Given the description of an element on the screen output the (x, y) to click on. 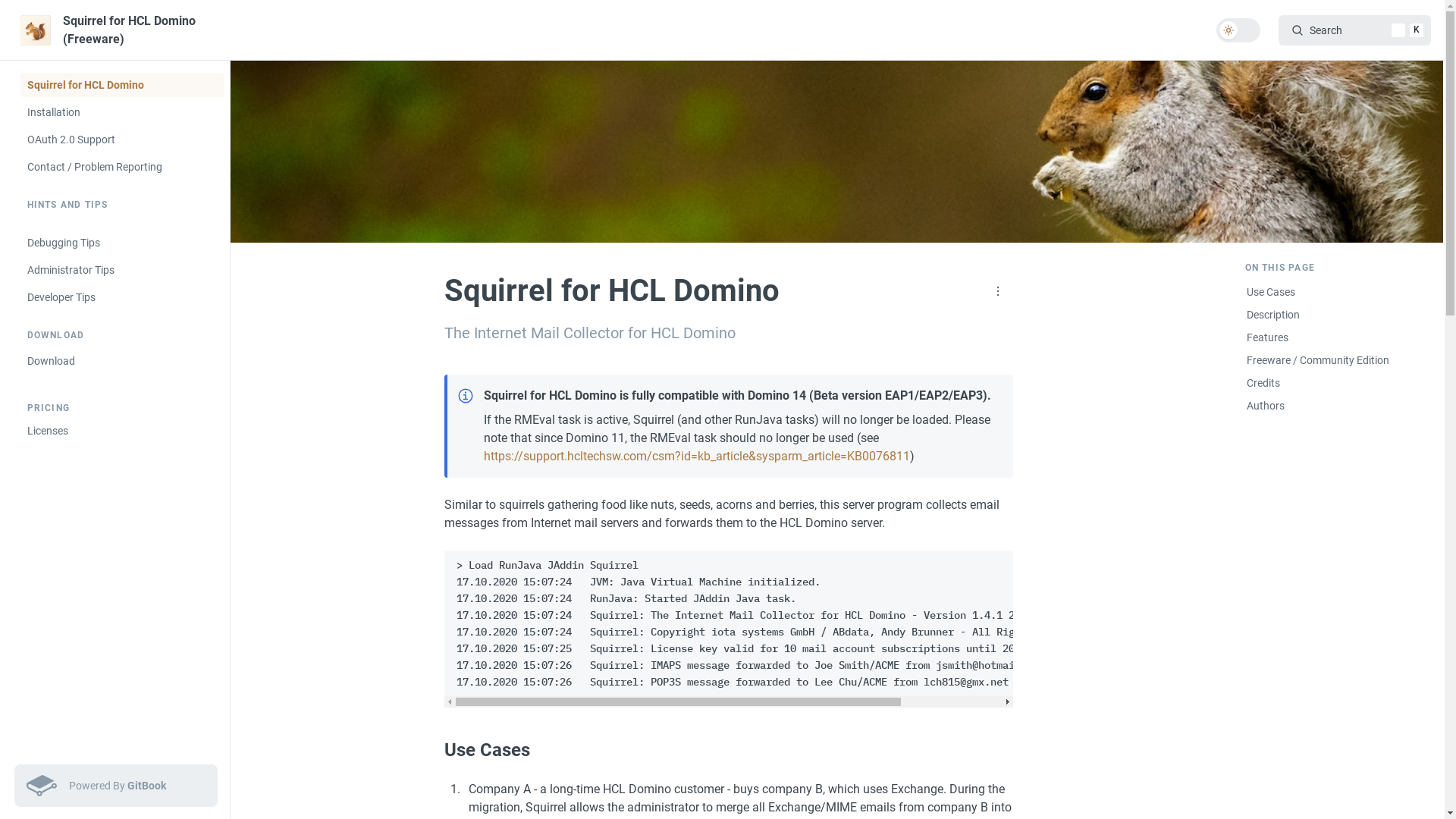
Installation Element type: text (120, 112)
Download Element type: text (120, 360)
Developer Tips Element type: text (120, 297)
OAuth 2.0 Support Element type: text (120, 139)
Powered By GitBook Element type: text (114, 785)
Licenses Element type: text (120, 430)
Administrator Tips Element type: text (120, 269)
Contact / Problem Reporting Element type: text (120, 166)
Debugging Tips Element type: text (120, 242)
Squirrel for HCL Domino Element type: text (120, 84)
